Given the description of an element on the screen output the (x, y) to click on. 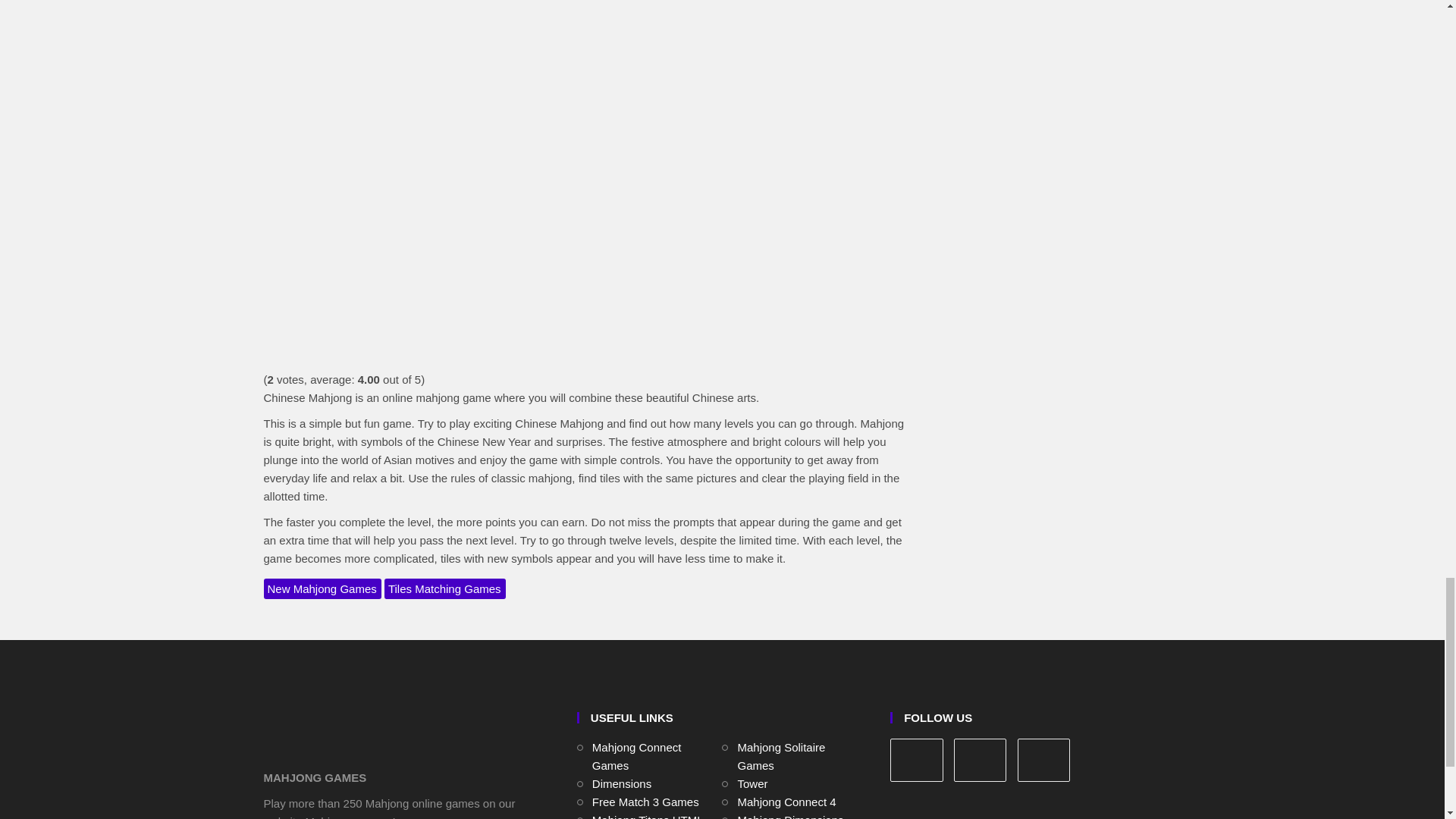
Mahjong Connect Games (636, 756)
Tower (751, 783)
New Mahjong Games (322, 588)
Mahjong Solitaire Games (780, 756)
Dimensions (621, 783)
Tiles Matching Games (444, 588)
Mahjong Connect 4 (785, 801)
Free Match 3 Games (645, 801)
Mahjong Titans HTML (647, 816)
Mahjong Dimensions 15 minutes (789, 816)
